Given the description of an element on the screen output the (x, y) to click on. 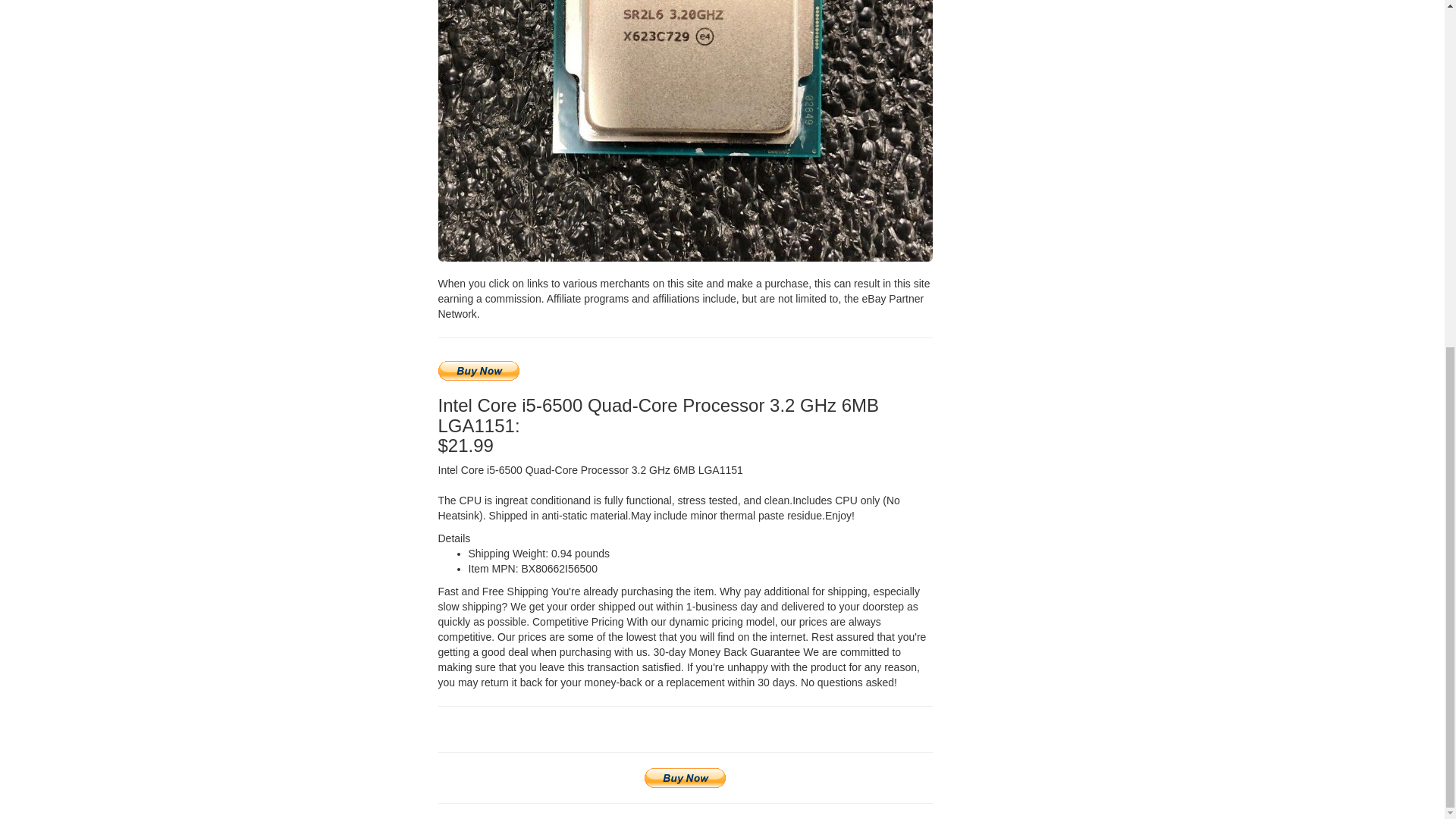
Buy Now (478, 370)
Buy Now (685, 777)
Advertisement (1068, 114)
Intel Core i5-6500 Quad-Core Processor 3.2 GHz 6MB LGA1151 (685, 130)
